Given the description of an element on the screen output the (x, y) to click on. 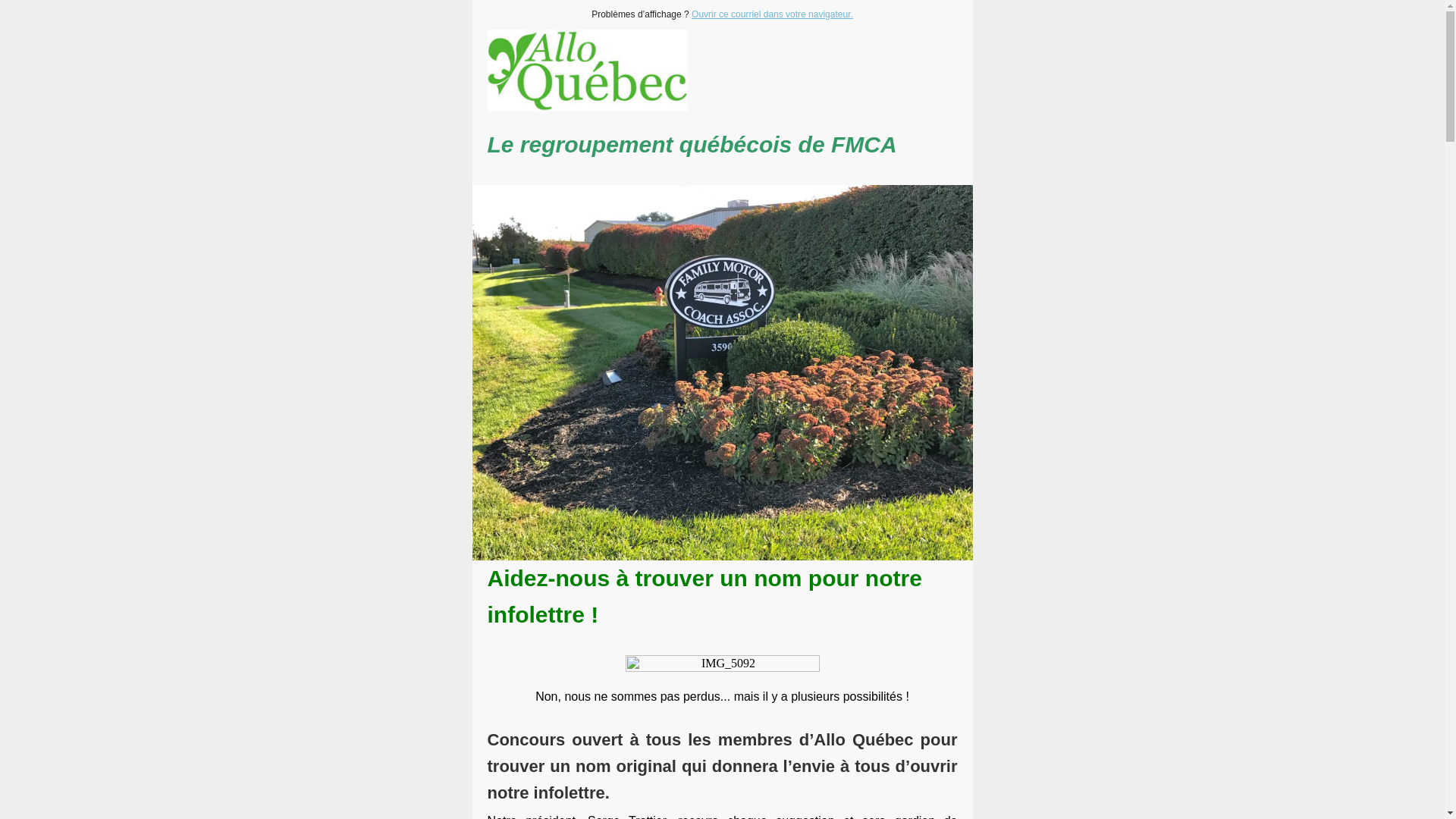
Ouvrir ce courriel dans votre navigateur. Element type: text (772, 14)
